Given the description of an element on the screen output the (x, y) to click on. 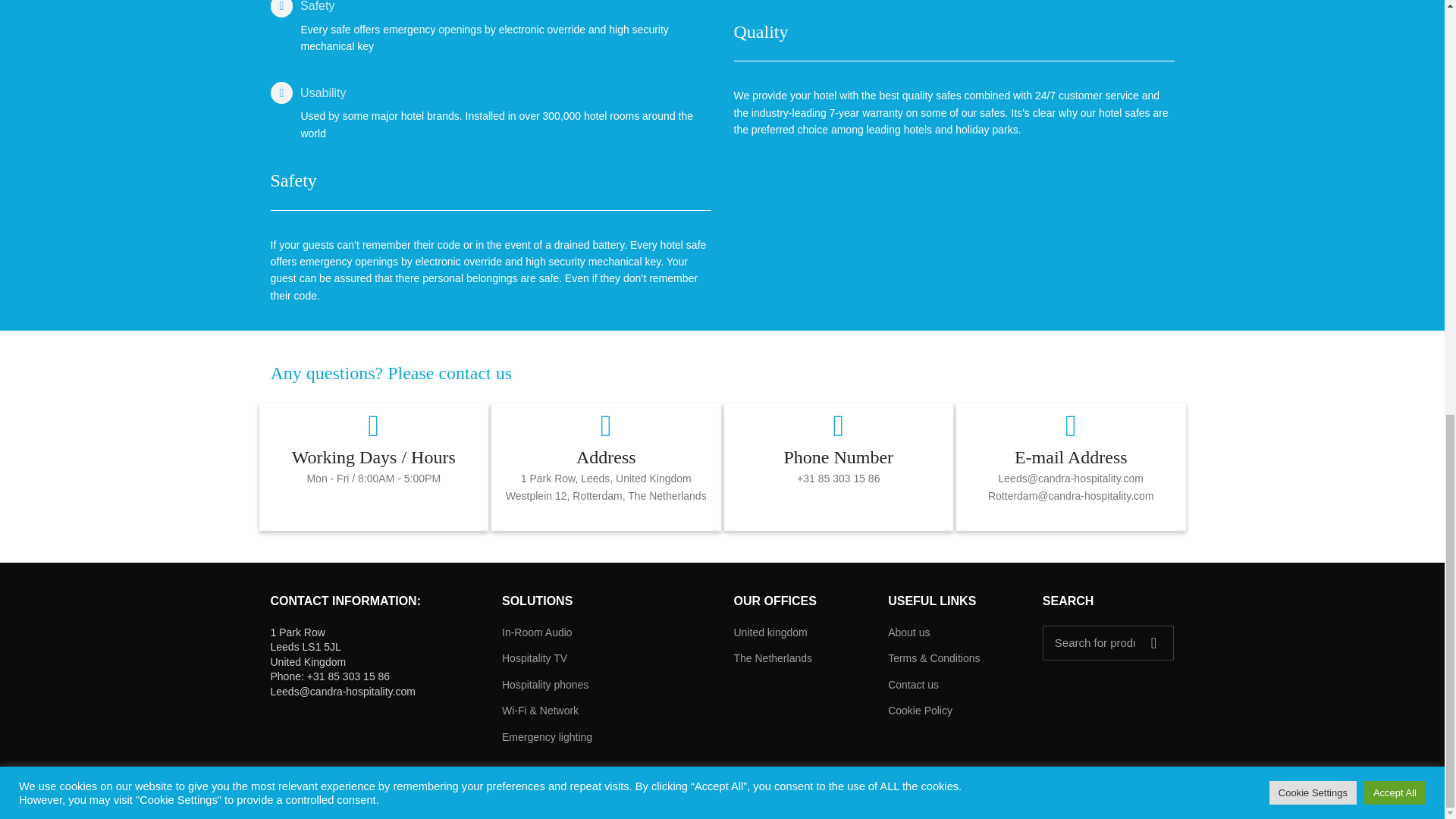
Contact Us (390, 373)
